Given the description of an element on the screen output the (x, y) to click on. 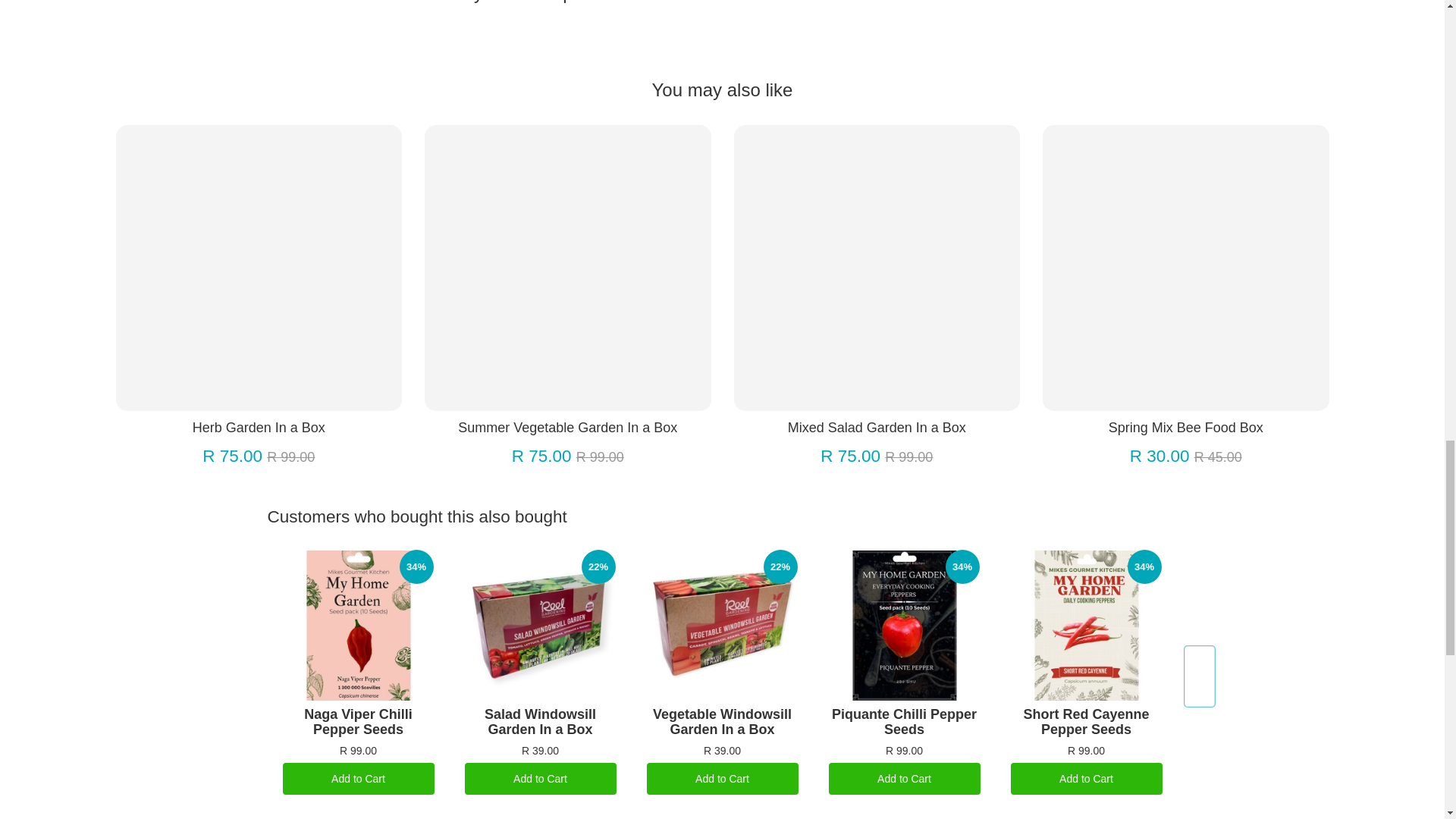
Vegetable Windowsill Garden In a Box (722, 625)
Short Red Cayenne Pepper Seeds (1086, 625)
Naga Viper Chilli Pepper Seeds (358, 625)
Piquante Chilli Pepper Seeds (904, 625)
Salad Windowsill Garden In a Box (540, 625)
